Given the description of an element on the screen output the (x, y) to click on. 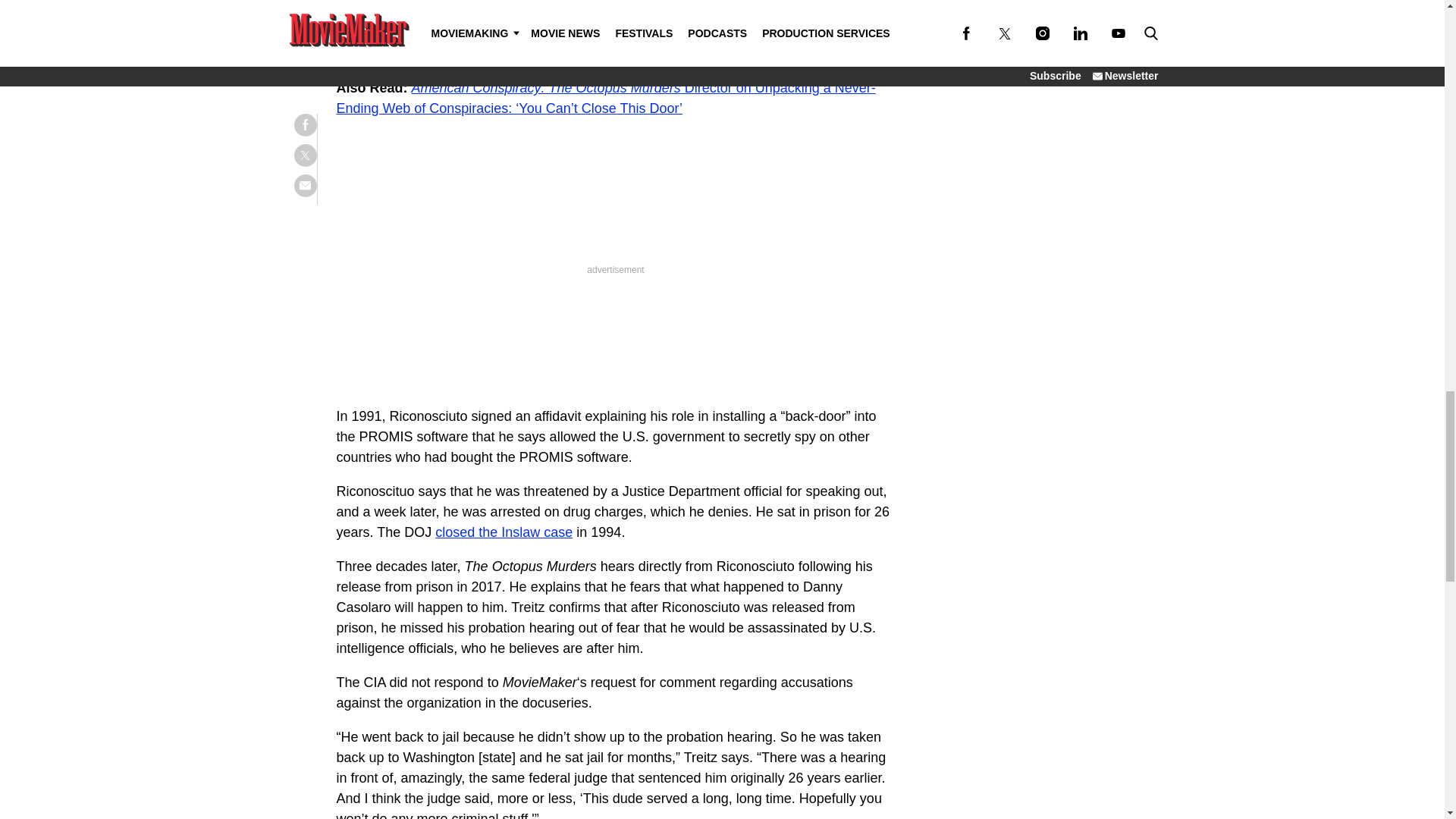
closed the Inslaw case (503, 531)
